Given the description of an element on the screen output the (x, y) to click on. 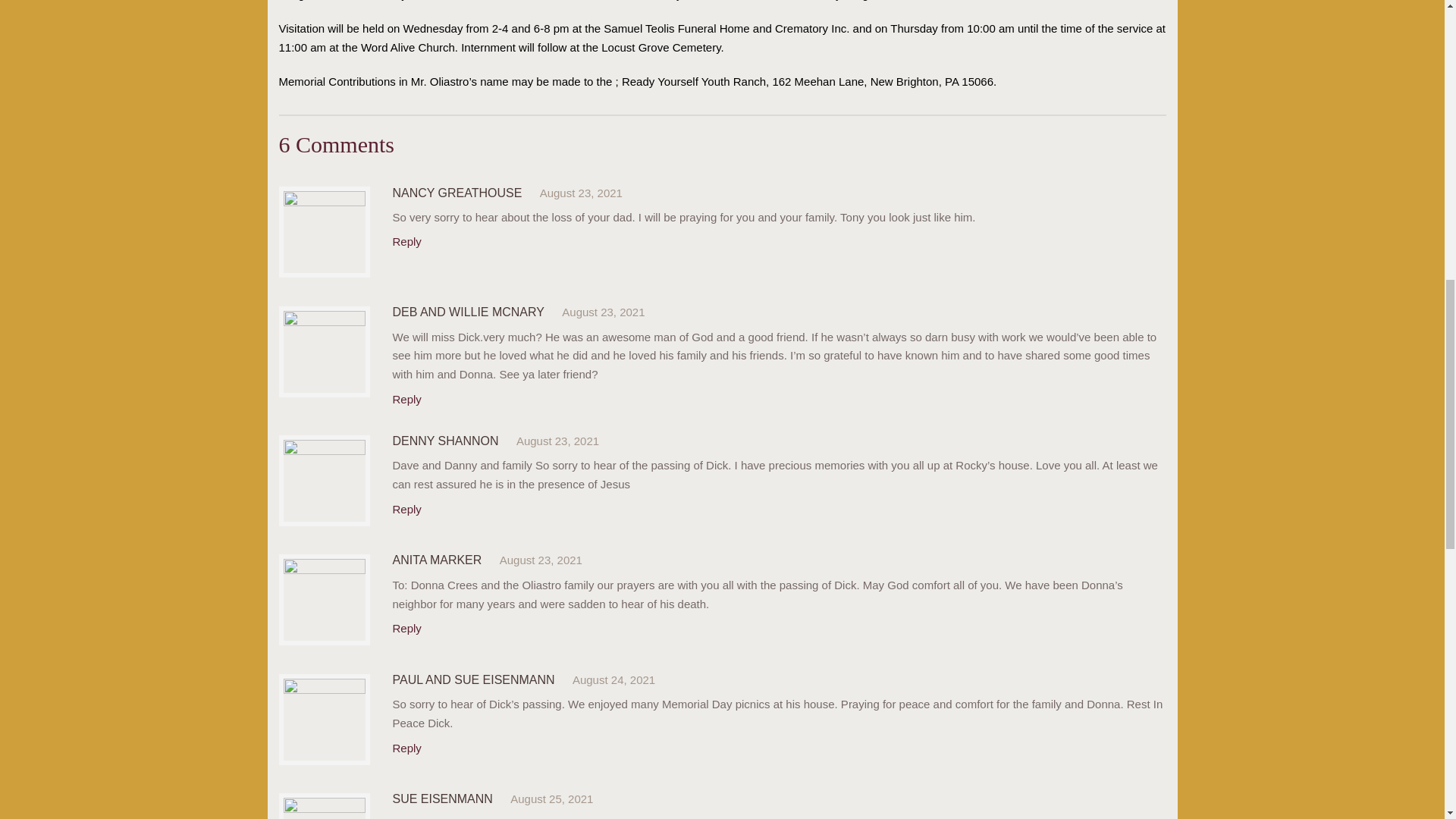
Reply (407, 627)
Reply (407, 508)
Reply (407, 241)
Reply (407, 748)
Reply (407, 399)
